Given the description of an element on the screen output the (x, y) to click on. 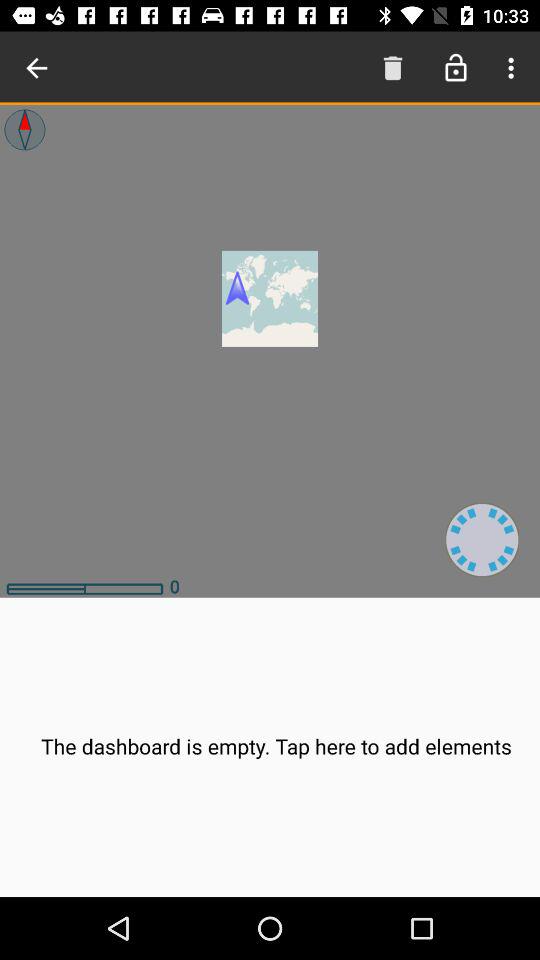
open the menu (508, 67)
